Given the description of an element on the screen output the (x, y) to click on. 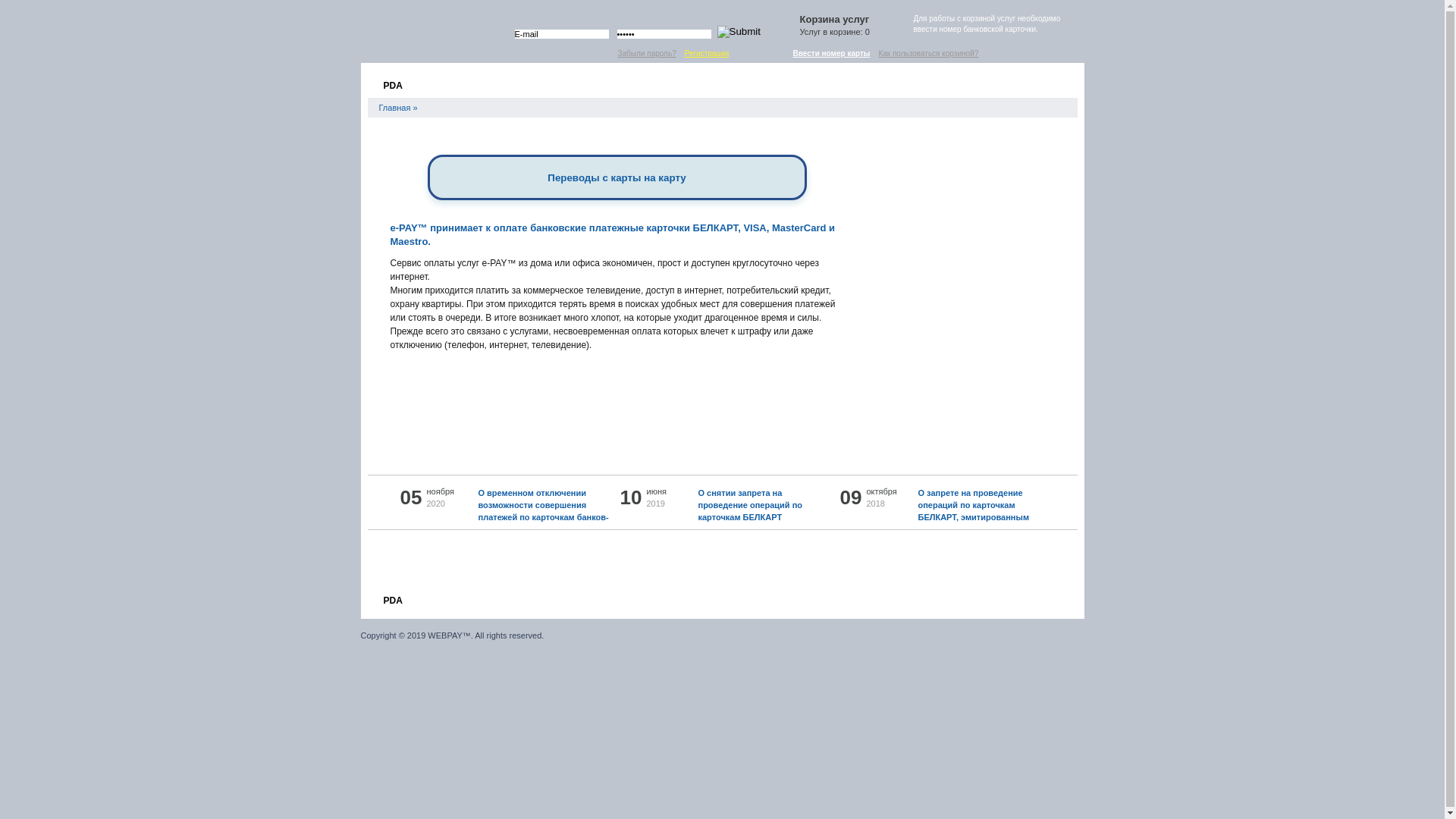
PDA Element type: text (391, 597)
PDA Element type: text (391, 83)
